Given the description of an element on the screen output the (x, y) to click on. 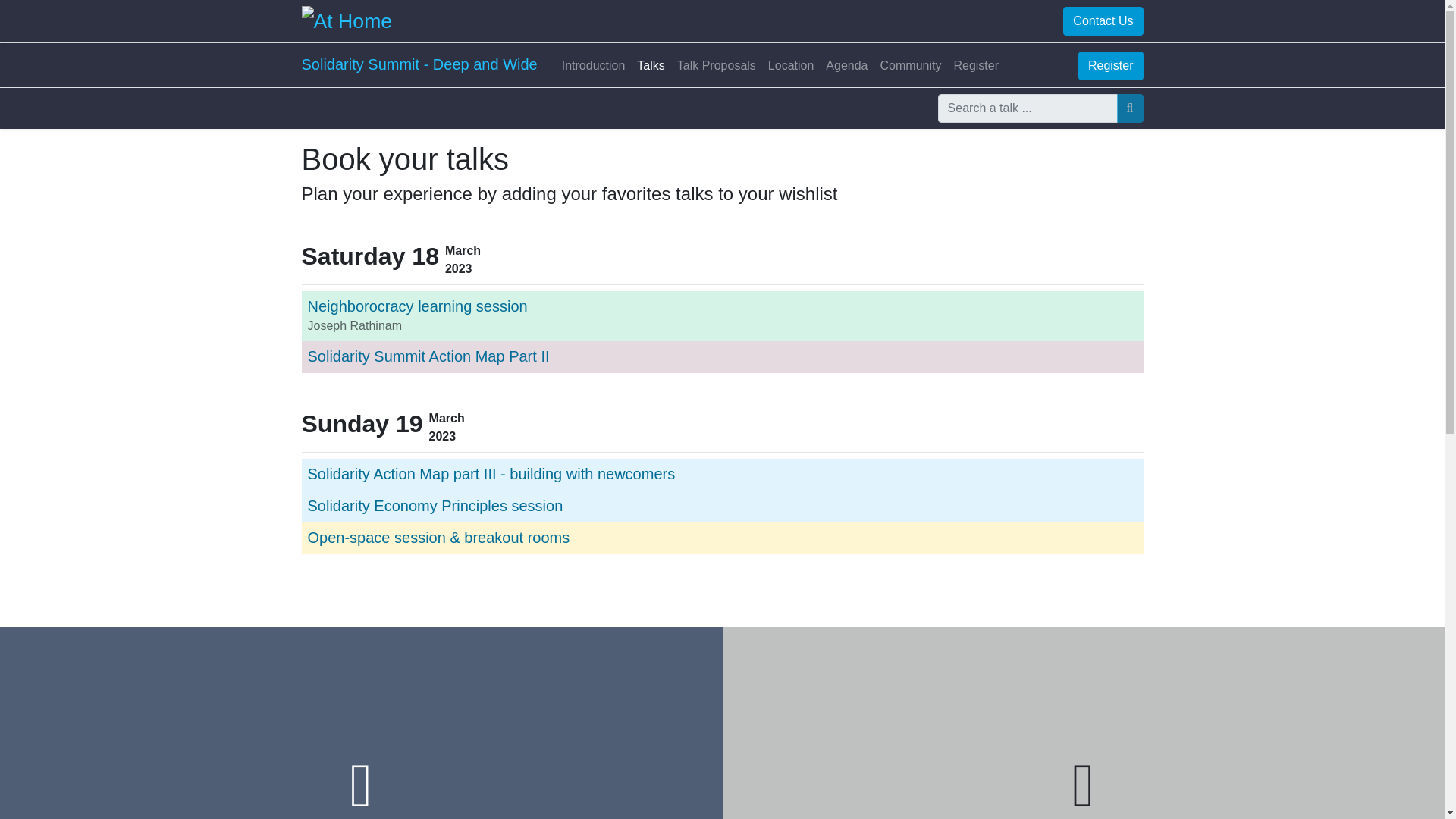
Solidarity Summit - Deep and Wide (419, 64)
Search (1129, 108)
Neighborocracy learning session (417, 306)
Register (1110, 65)
Solidarity Summit Action Map Part II (428, 356)
Community (911, 65)
Talks (649, 65)
At Home (347, 20)
Solidarity Economy Principles session (435, 505)
Register (975, 65)
Talk Proposals (716, 65)
Contact Us (1102, 21)
Introduction (593, 65)
Location (791, 65)
Agenda (846, 65)
